Given the description of an element on the screen output the (x, y) to click on. 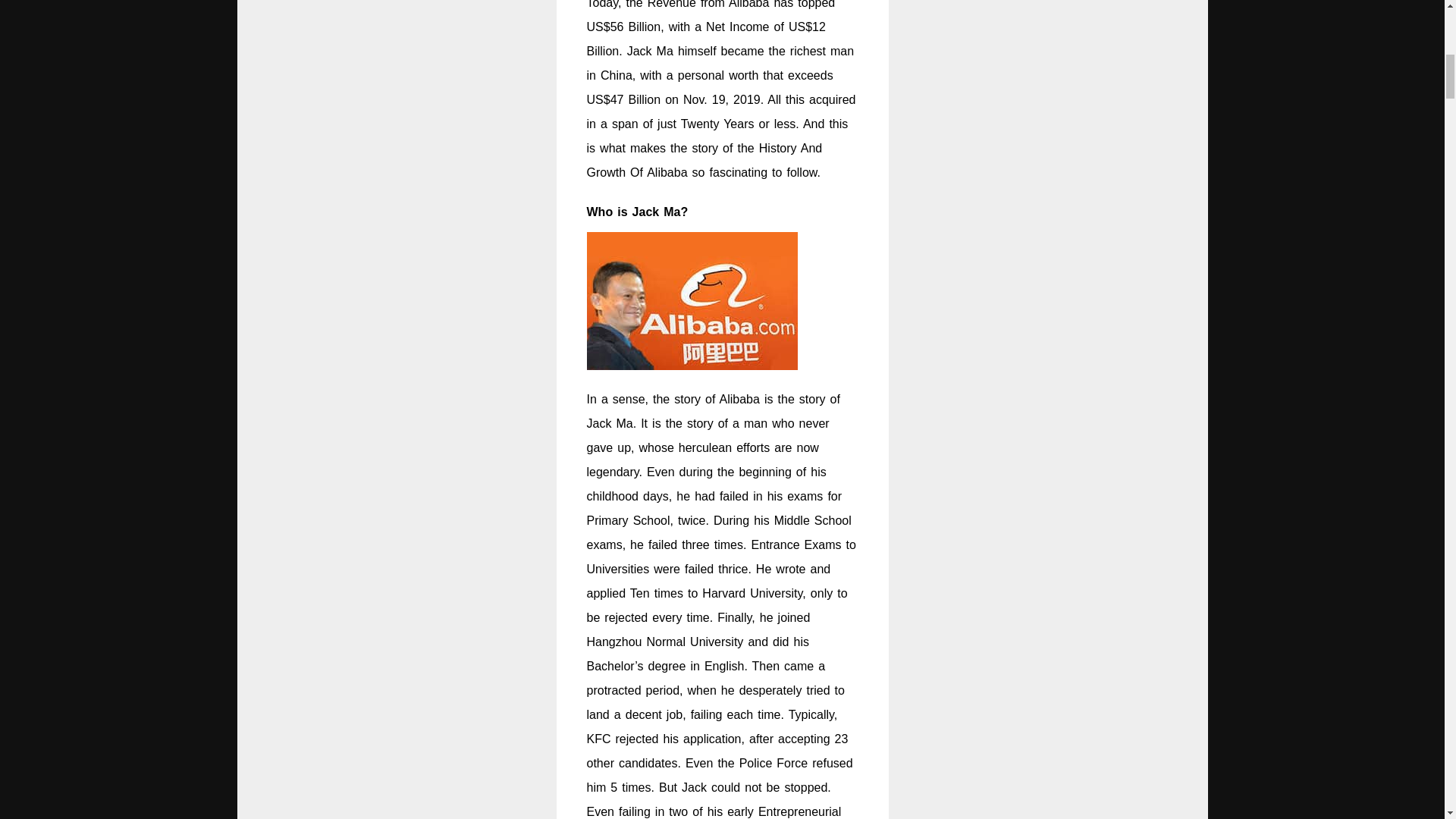
January 2019 (1267, 500)
Online Business (1275, 734)
July 2020 (1257, 368)
June 2019 (1259, 467)
November 2019 (1274, 435)
Affiliate Marketing (1279, 635)
Online Entrepreneurship (1296, 767)
Ecommerce (1263, 701)
March 2023 (1263, 335)
April 2020 (1258, 401)
